Given the description of an element on the screen output the (x, y) to click on. 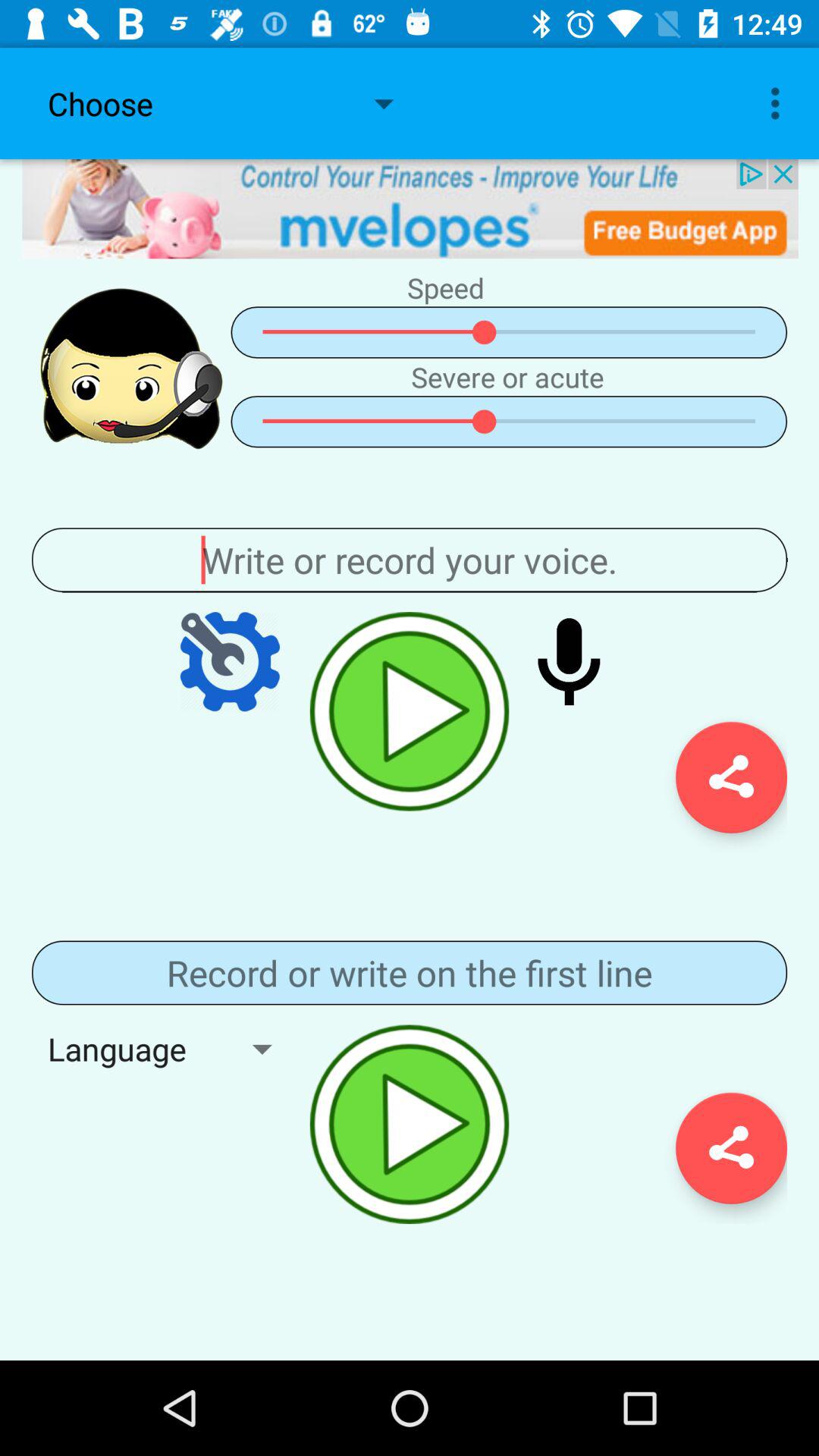
go to options (229, 661)
